Given the description of an element on the screen output the (x, y) to click on. 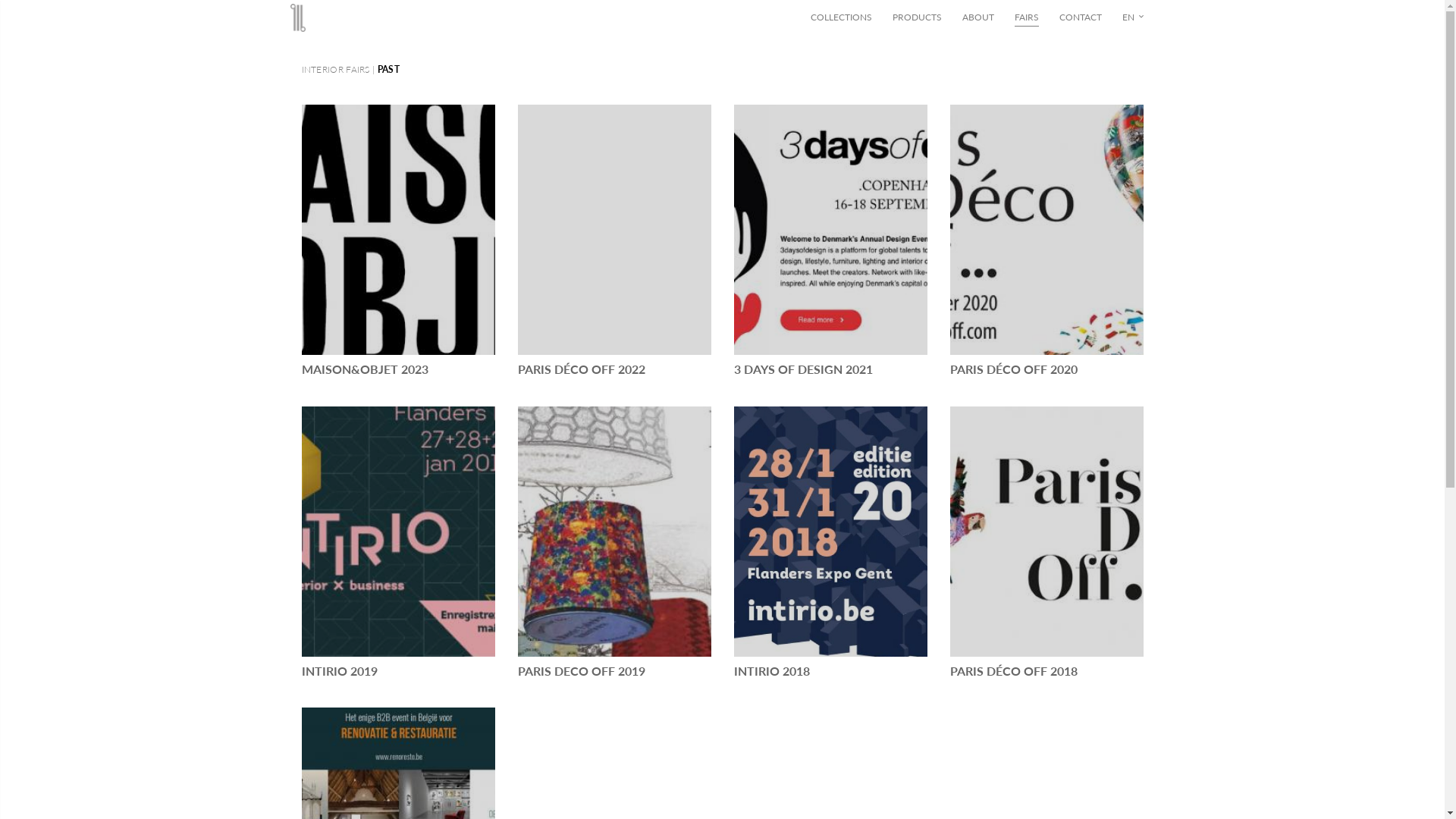
COLLECTIONS Element type: text (840, 16)
INTIRIO 2018 Element type: text (830, 670)
PARIS DECO OFF 2019 Element type: text (613, 670)
Maison&Objet 2023 Element type: hover (398, 229)
3 DAYS OF DESIGN 2021 Element type: text (830, 369)
FAIRS Element type: text (1026, 16)
CONTACT Element type: text (1079, 16)
MAISON&OBJET 2023 Element type: text (398, 369)
INTIRIO 2019 Element type: text (398, 670)
ABOUT Element type: text (977, 16)
PRODUCTS Element type: text (916, 16)
Intirio 2019  Element type: hover (398, 531)
Intirio 2018 Element type: hover (830, 531)
EN Element type: text (1133, 16)
3 Days of Design 2021 Element type: hover (830, 229)
Paris Deco Off 2019 Element type: hover (613, 531)
